Given the description of an element on the screen output the (x, y) to click on. 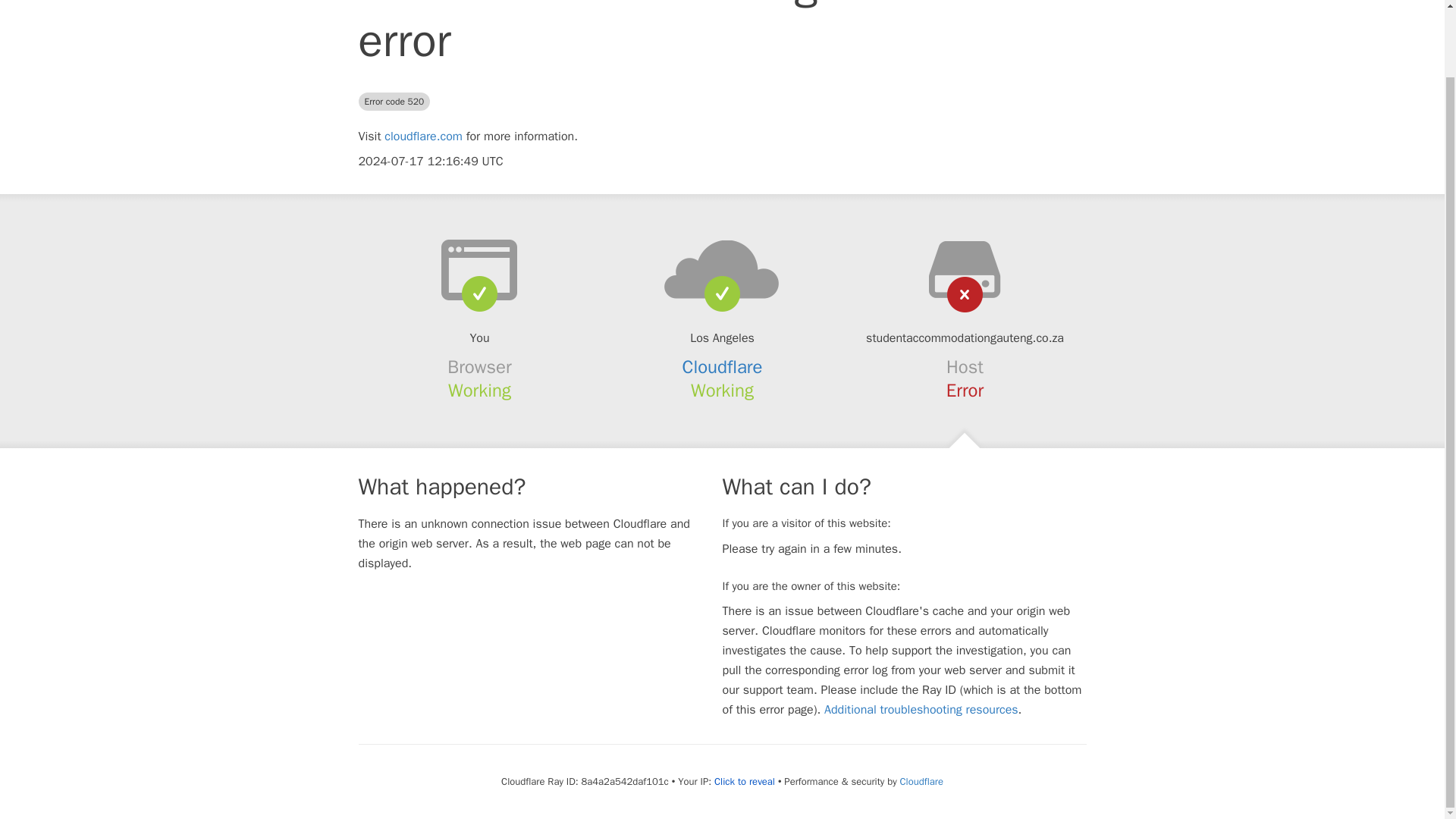
Cloudflare (921, 780)
Additional troubleshooting resources (920, 709)
cloudflare.com (423, 136)
Click to reveal (744, 781)
Cloudflare (722, 366)
